Given the description of an element on the screen output the (x, y) to click on. 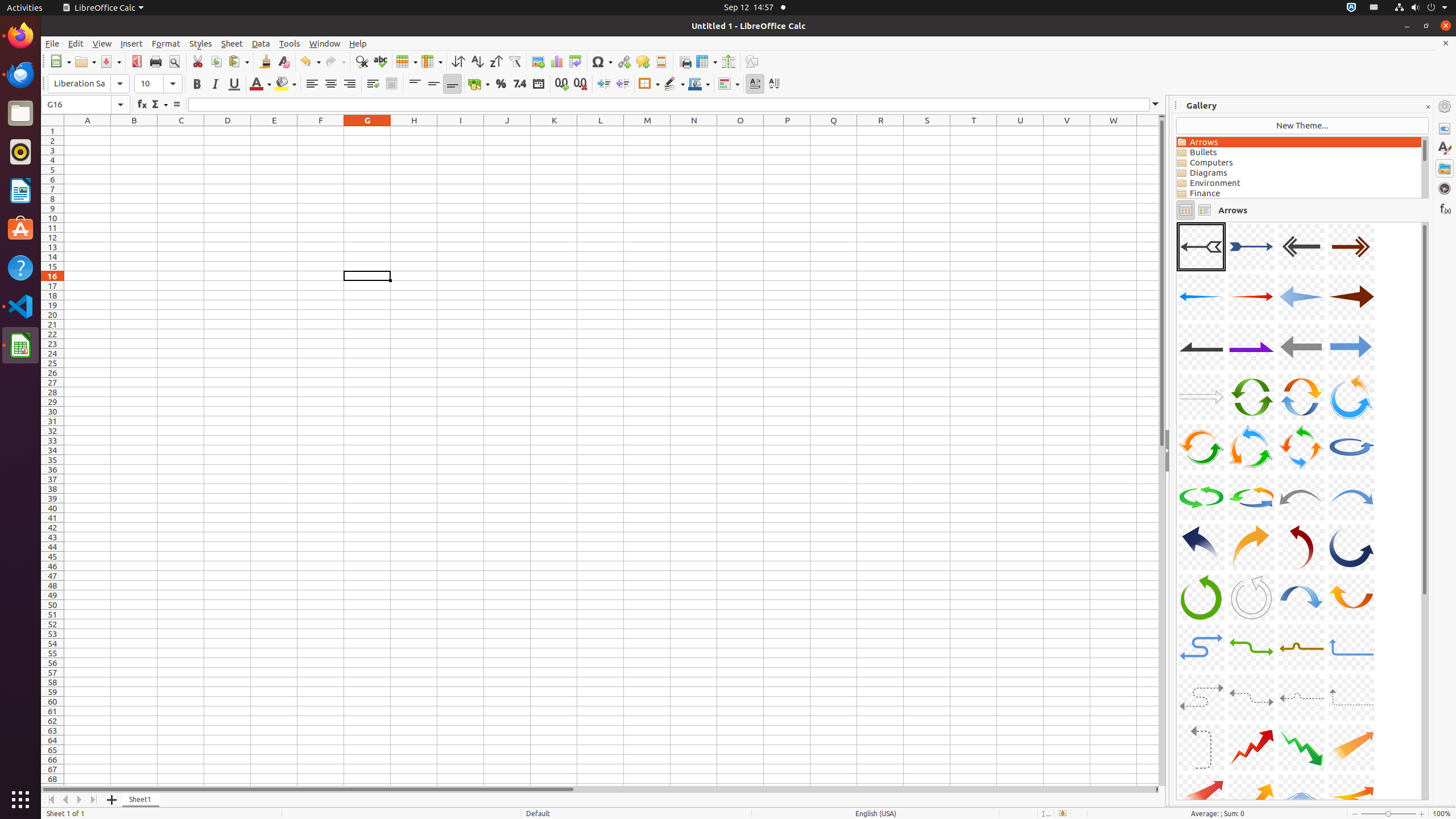
:1.72/StatusNotifierItem Element type: menu (1350, 7)
Sort Descending Element type: push-button (495, 61)
Redo Element type: push-button (334, 61)
Italic Element type: toggle-button (214, 83)
Move To End Element type: push-button (94, 799)
